Given the description of an element on the screen output the (x, y) to click on. 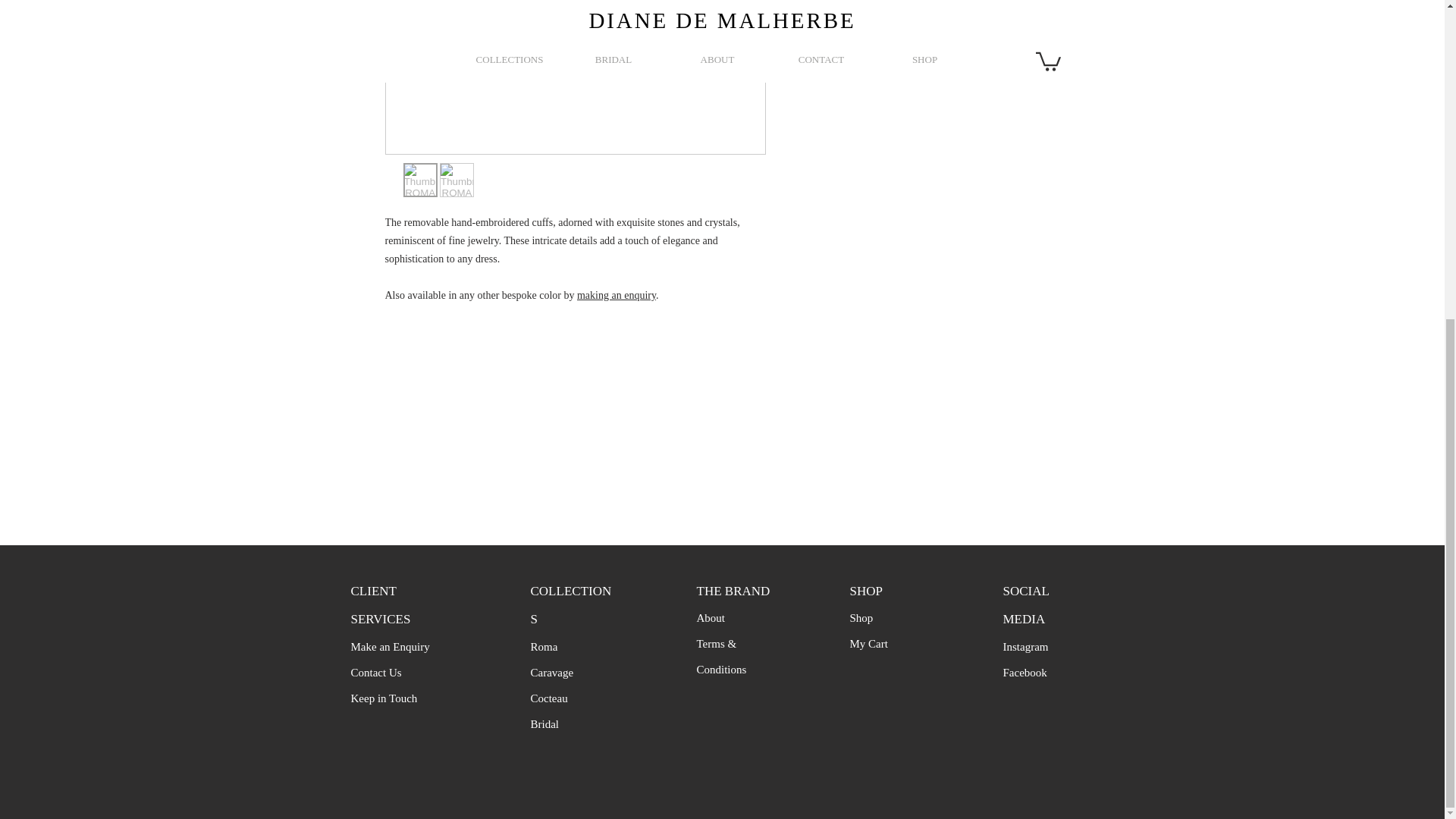
My Cart (867, 643)
Bridal (545, 724)
Instagram (1025, 645)
Carav (544, 671)
Contact Us (375, 671)
Roma (544, 645)
making an enquiry (616, 295)
About (710, 617)
Facebook (1024, 672)
Make an Enquiry (389, 645)
Keep in Touch (383, 697)
age (565, 671)
Cocteau (549, 697)
Shop (860, 617)
